Given the description of an element on the screen output the (x, y) to click on. 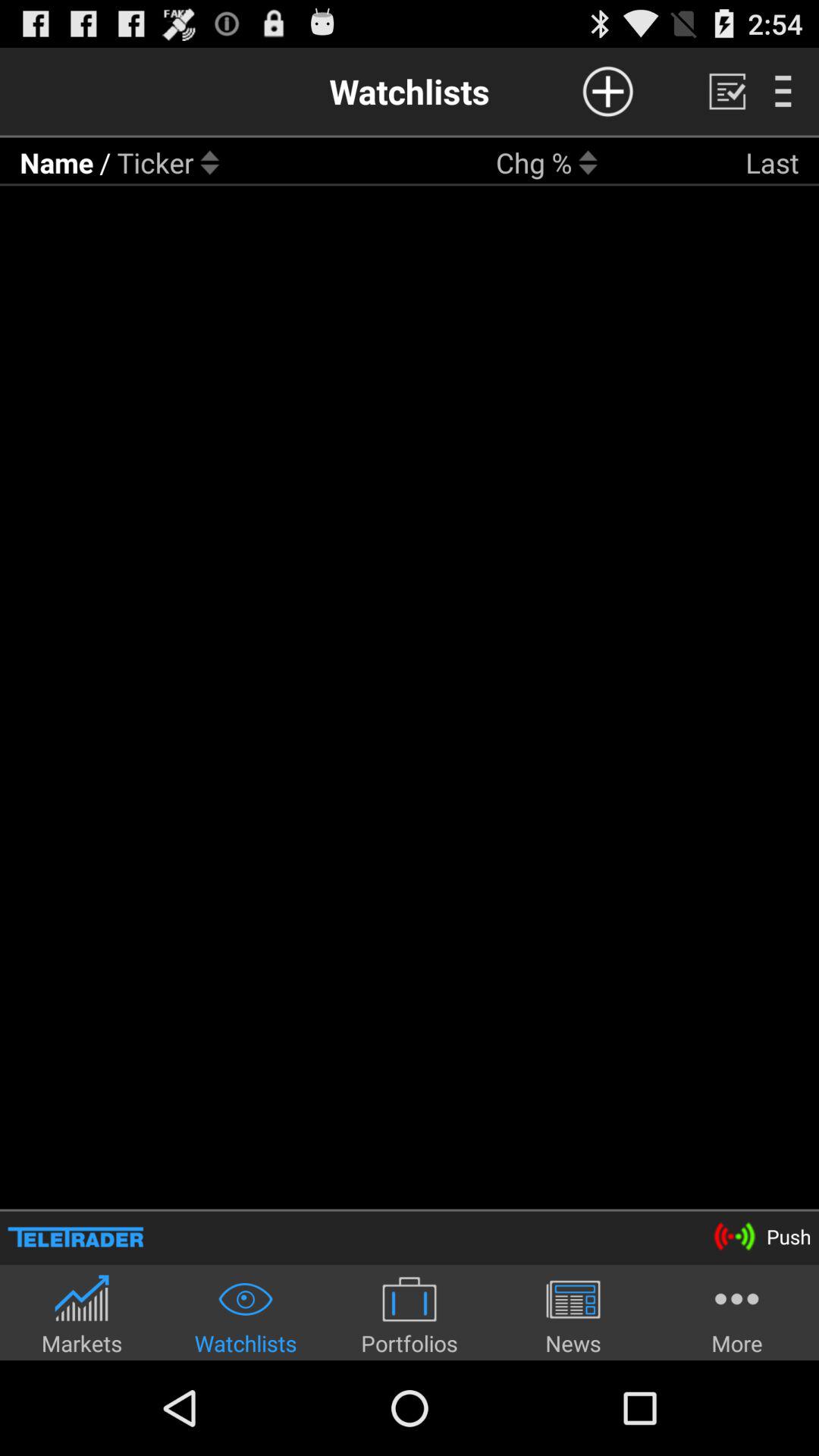
jump to the more (737, 1314)
